Given the description of an element on the screen output the (x, y) to click on. 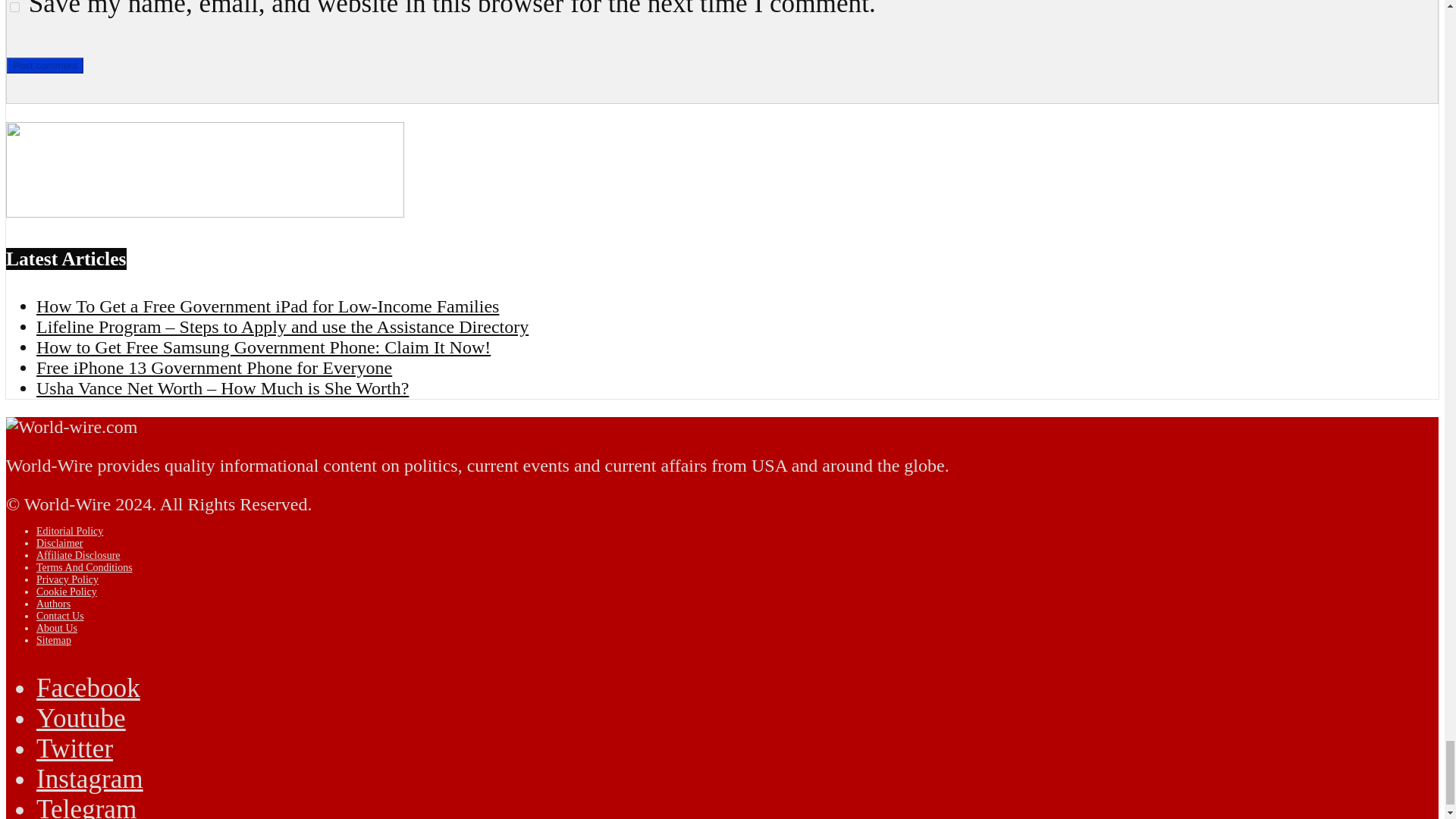
Post comment (44, 65)
yes (15, 7)
